Given the description of an element on the screen output the (x, y) to click on. 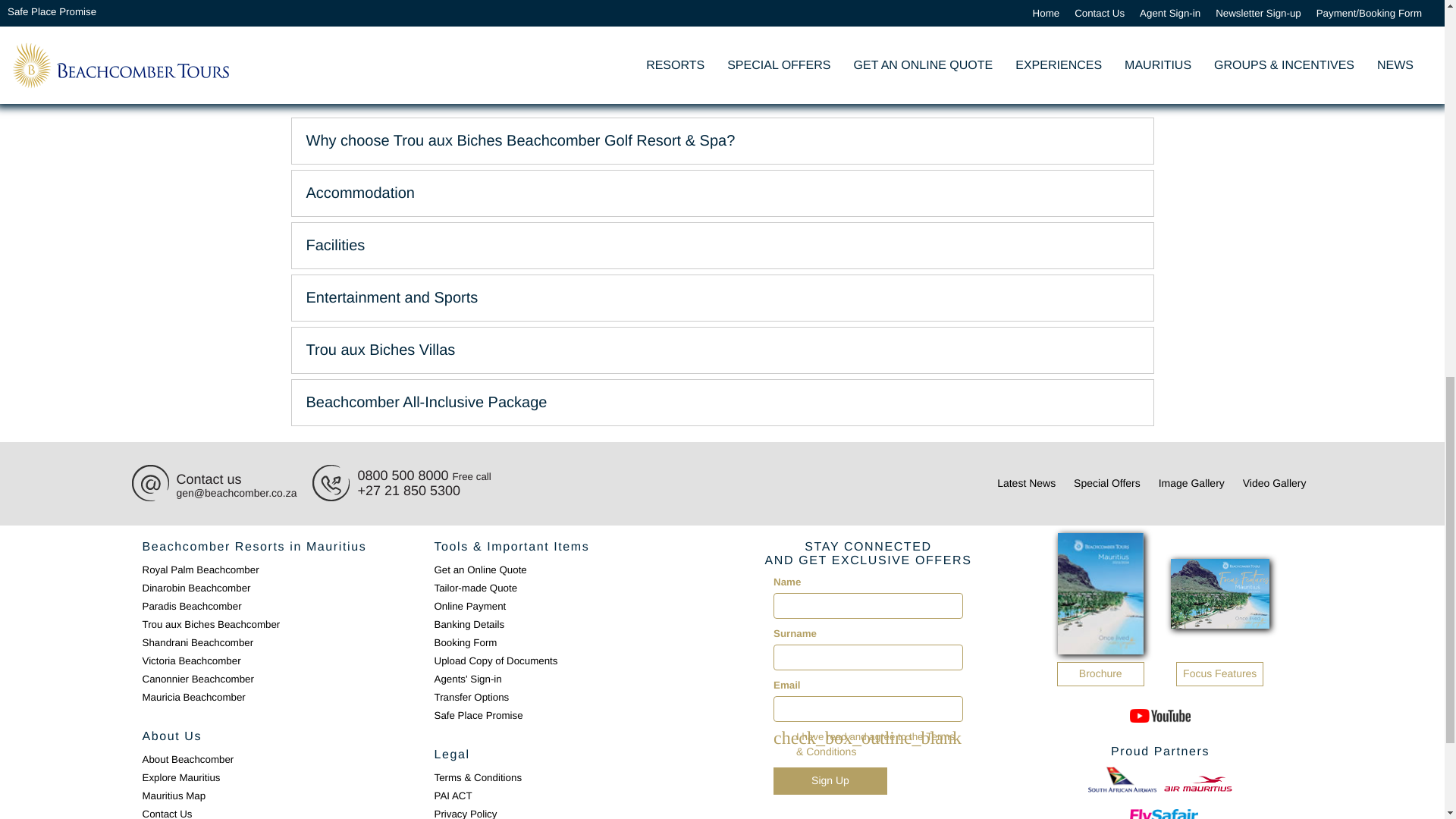
Sign Up (829, 780)
